Given the description of an element on the screen output the (x, y) to click on. 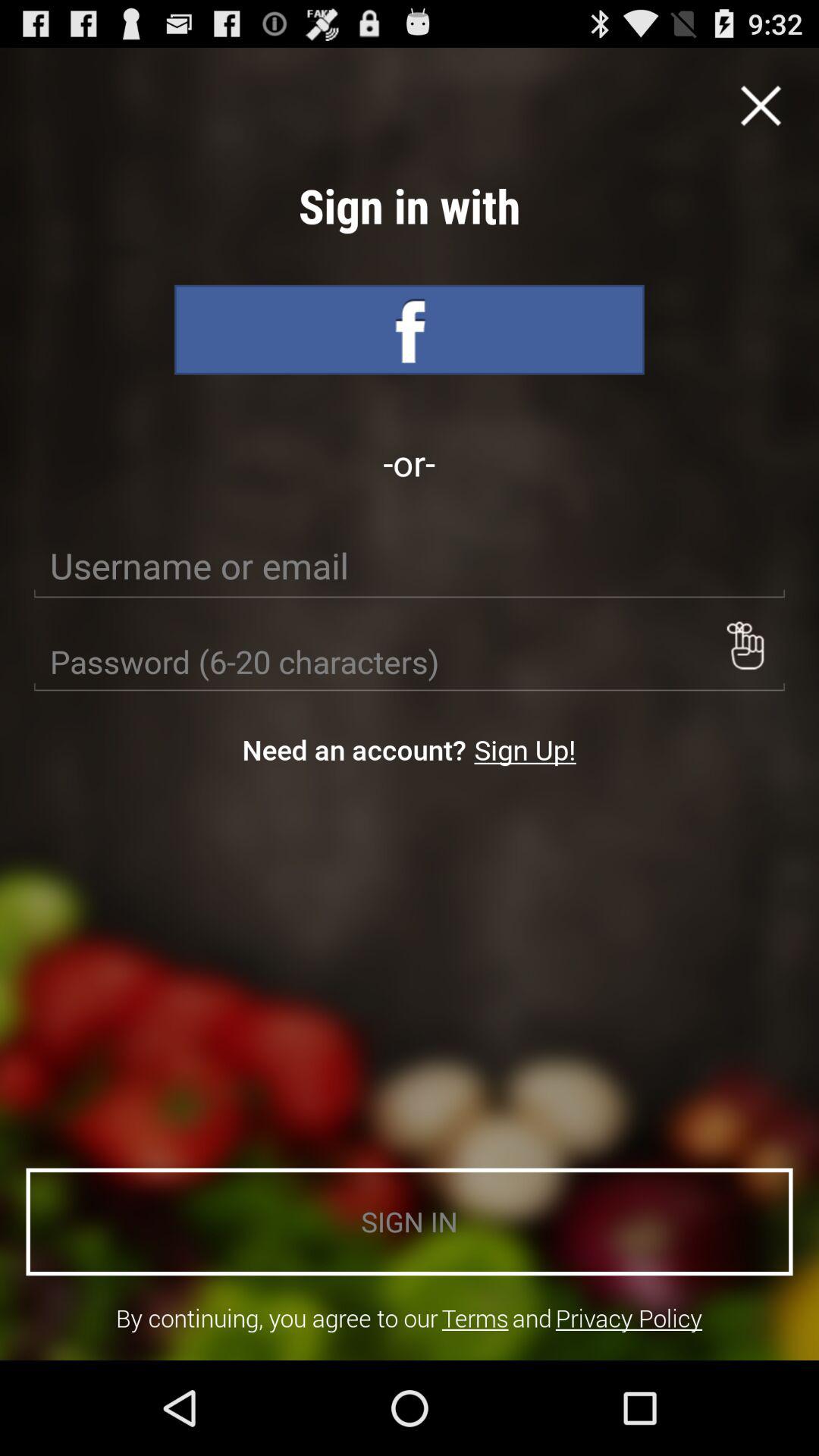
press the item to the right of the by continuing you item (474, 1317)
